Given the description of an element on the screen output the (x, y) to click on. 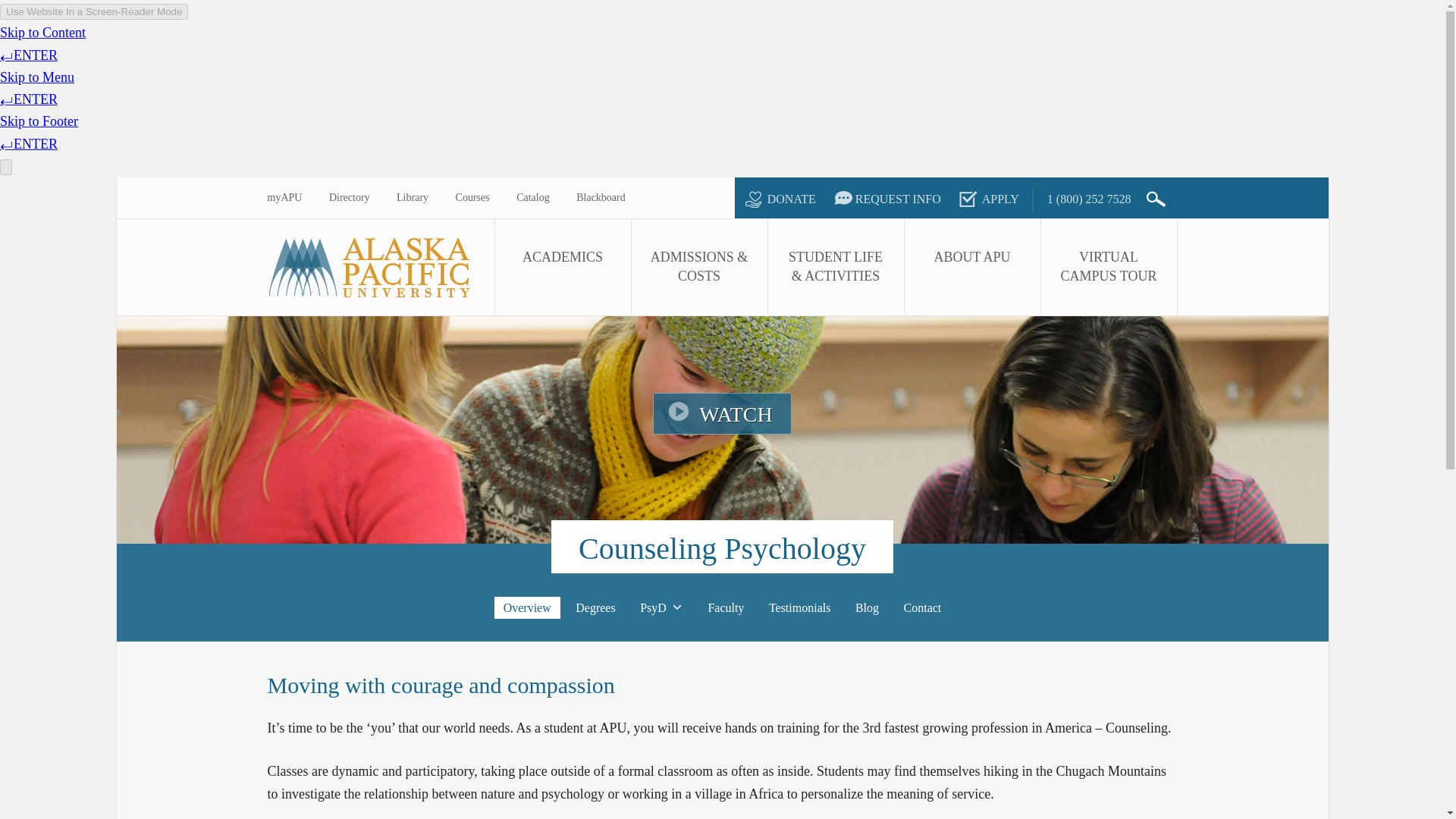
Library (412, 198)
REQUEST INFO (884, 199)
DONATE (777, 199)
Blackboard (601, 198)
APPLY (987, 199)
Courses (472, 198)
ACADEMICS (562, 266)
Directory (349, 198)
myAPU (283, 198)
Alaska Pacific University (379, 267)
Catalog (533, 198)
